Given the description of an element on the screen output the (x, y) to click on. 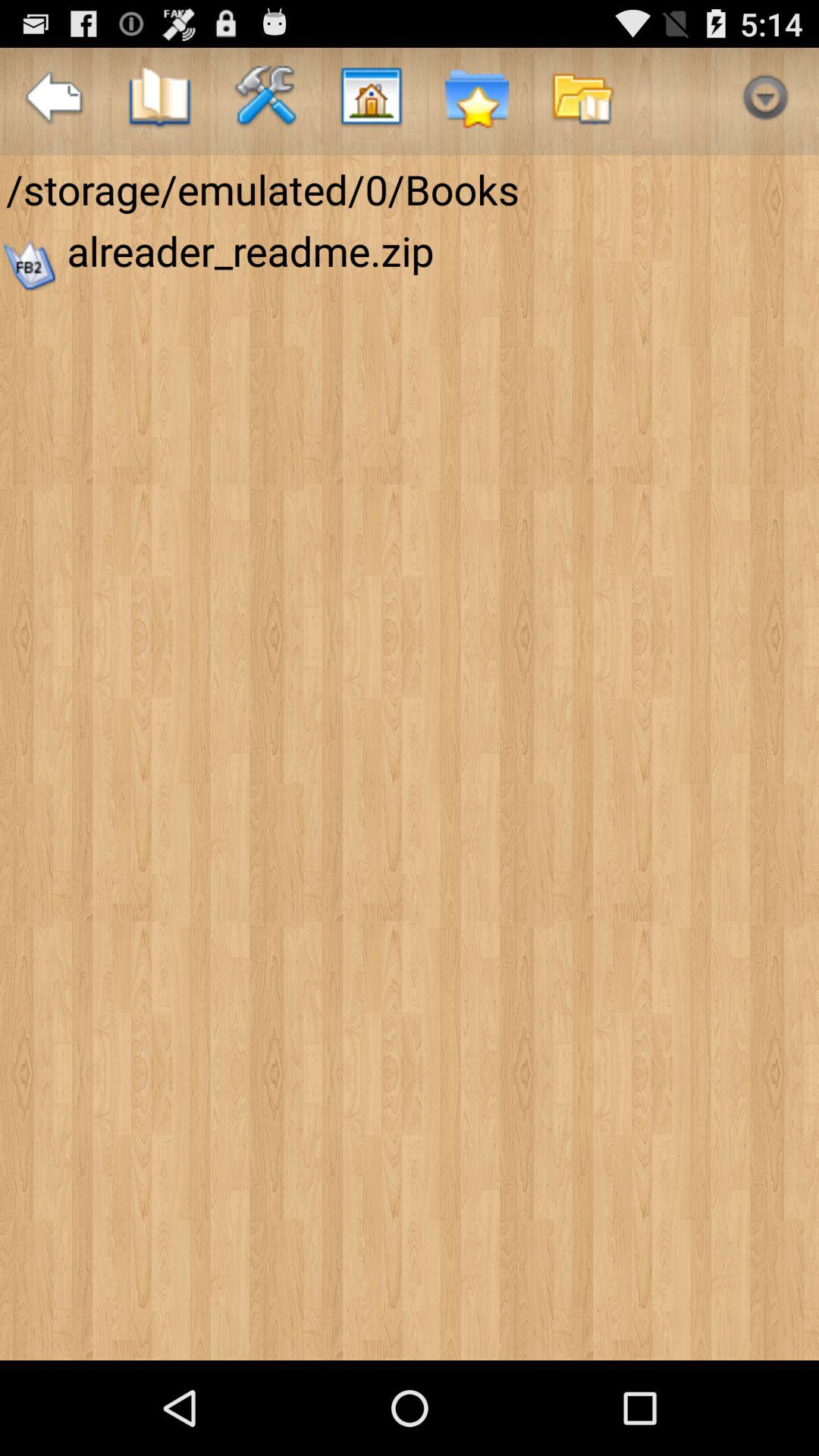
launch the app above storage emulated 0 (582, 101)
